Given the description of an element on the screen output the (x, y) to click on. 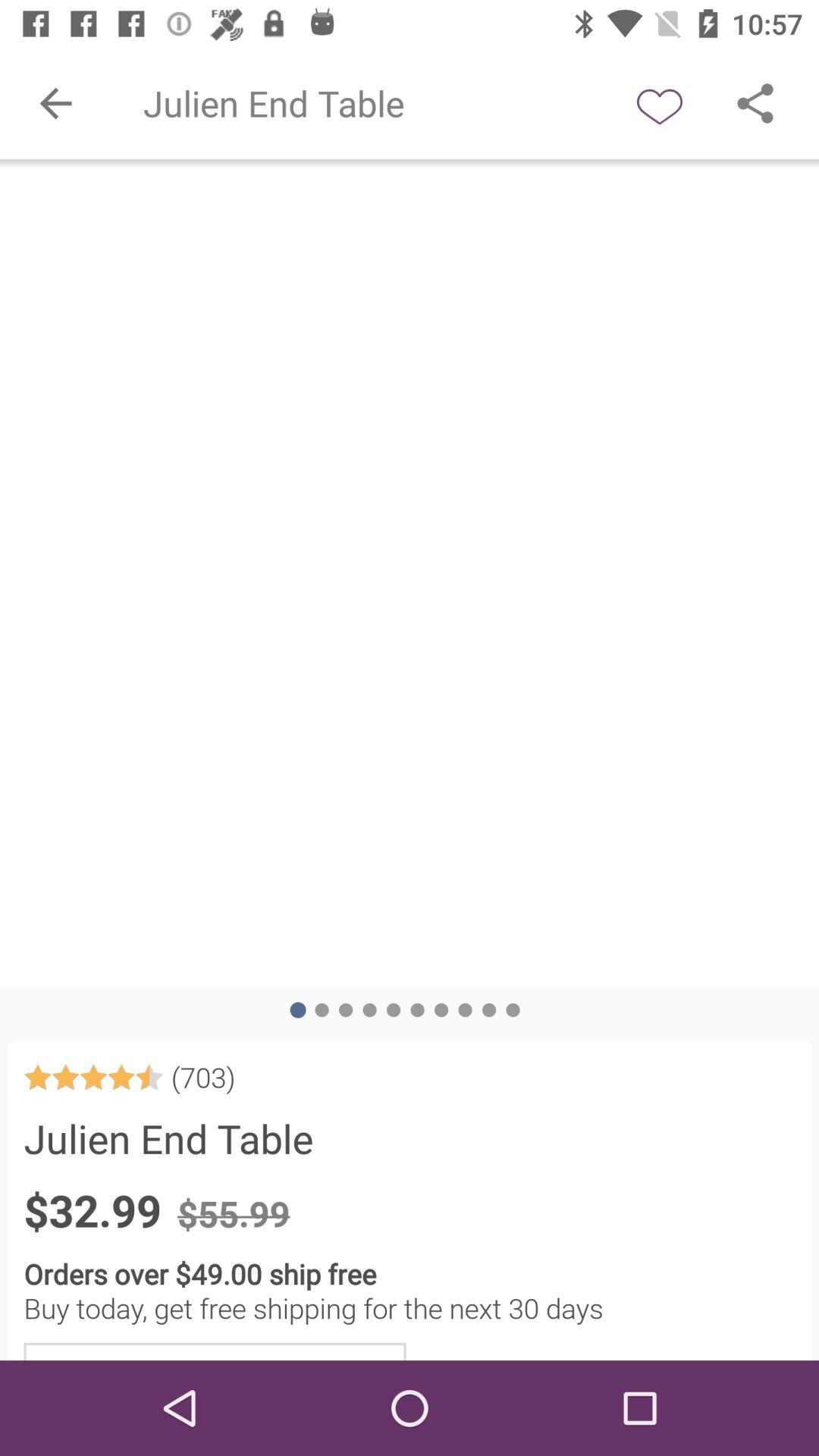
shre (755, 103)
